Given the description of an element on the screen output the (x, y) to click on. 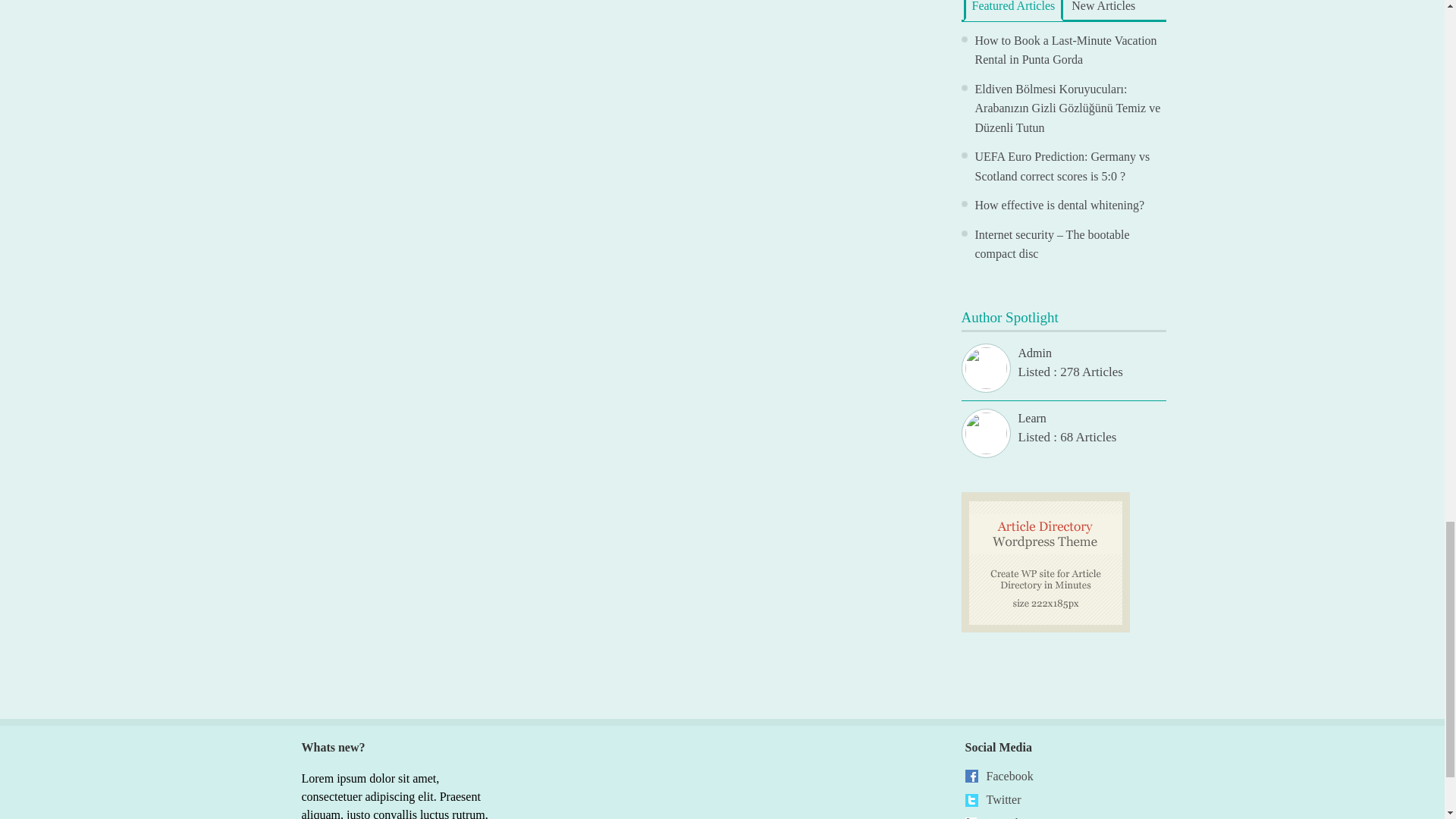
New Articles (1103, 9)
How to Book a Last-Minute Vacation Rental in Punta Gorda (1066, 49)
Featured Articles (1012, 10)
Featured Articles (1012, 10)
How effective is dental whitening? (1059, 205)
New Articles (1103, 9)
